Given the description of an element on the screen output the (x, y) to click on. 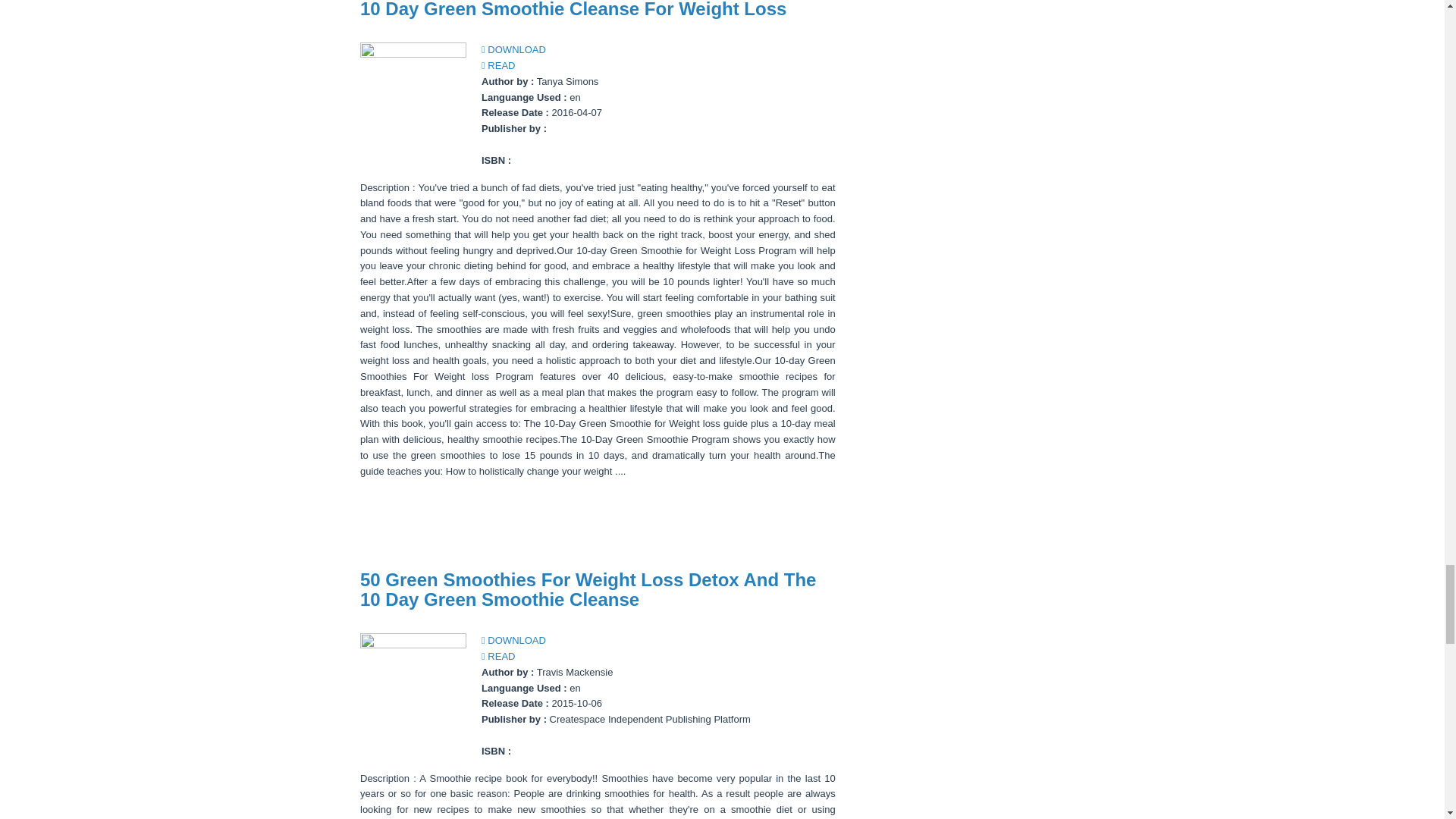
10 Day Green Smoothie Cleanse For Weight Loss (572, 9)
